Given the description of an element on the screen output the (x, y) to click on. 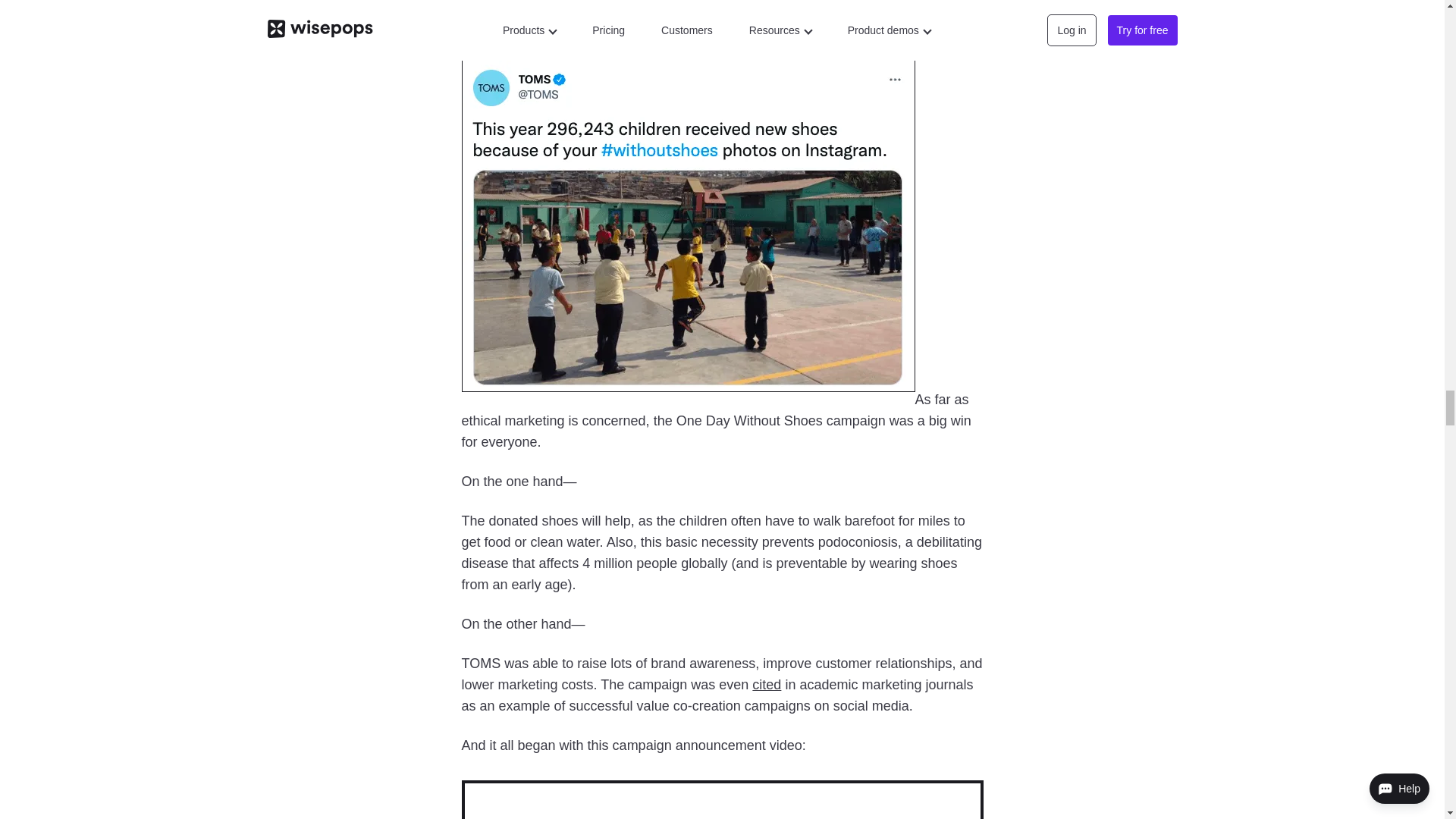
cited (766, 684)
Embedded youtube (721, 799)
